Given the description of an element on the screen output the (x, y) to click on. 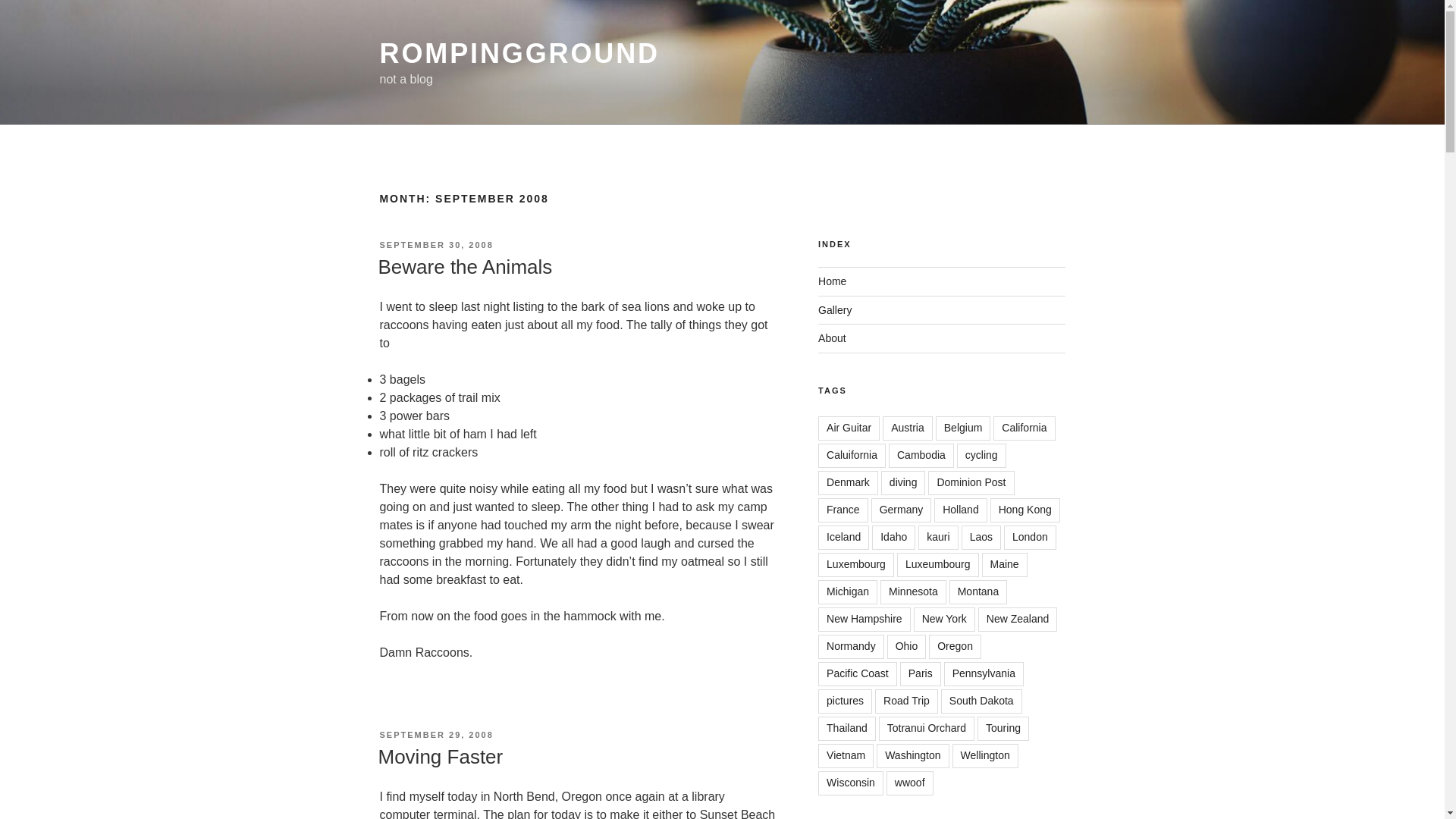
Moving Faster (439, 756)
Holland (960, 509)
Caluifornia (851, 455)
Air Guitar (848, 428)
SEPTEMBER 29, 2008 (435, 734)
Austria (907, 428)
Beware the Animals (464, 266)
Dominion Post (970, 482)
cycling (981, 455)
ROMPINGGROUND (518, 52)
